Given the description of an element on the screen output the (x, y) to click on. 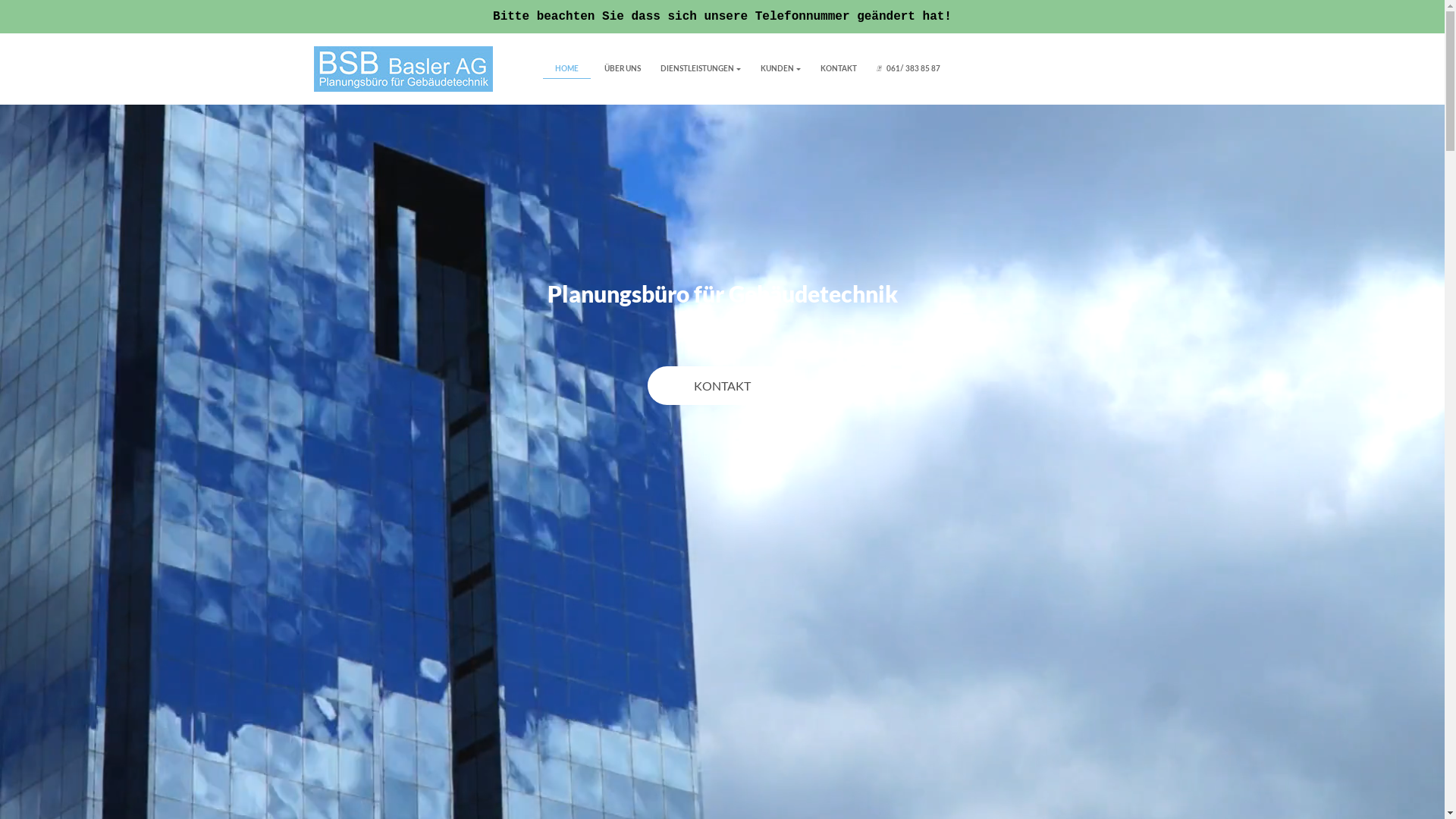
KONTAKT Element type: text (721, 385)
KUNDEN Element type: text (779, 68)
KONTAKT Element type: text (722, 385)
    061/ 383 85 87 Element type: text (908, 68)
HOME Element type: text (566, 68)
KONTAKT Element type: text (838, 68)
DIENSTLEISTUNGEN Element type: text (699, 68)
